Given the description of an element on the screen output the (x, y) to click on. 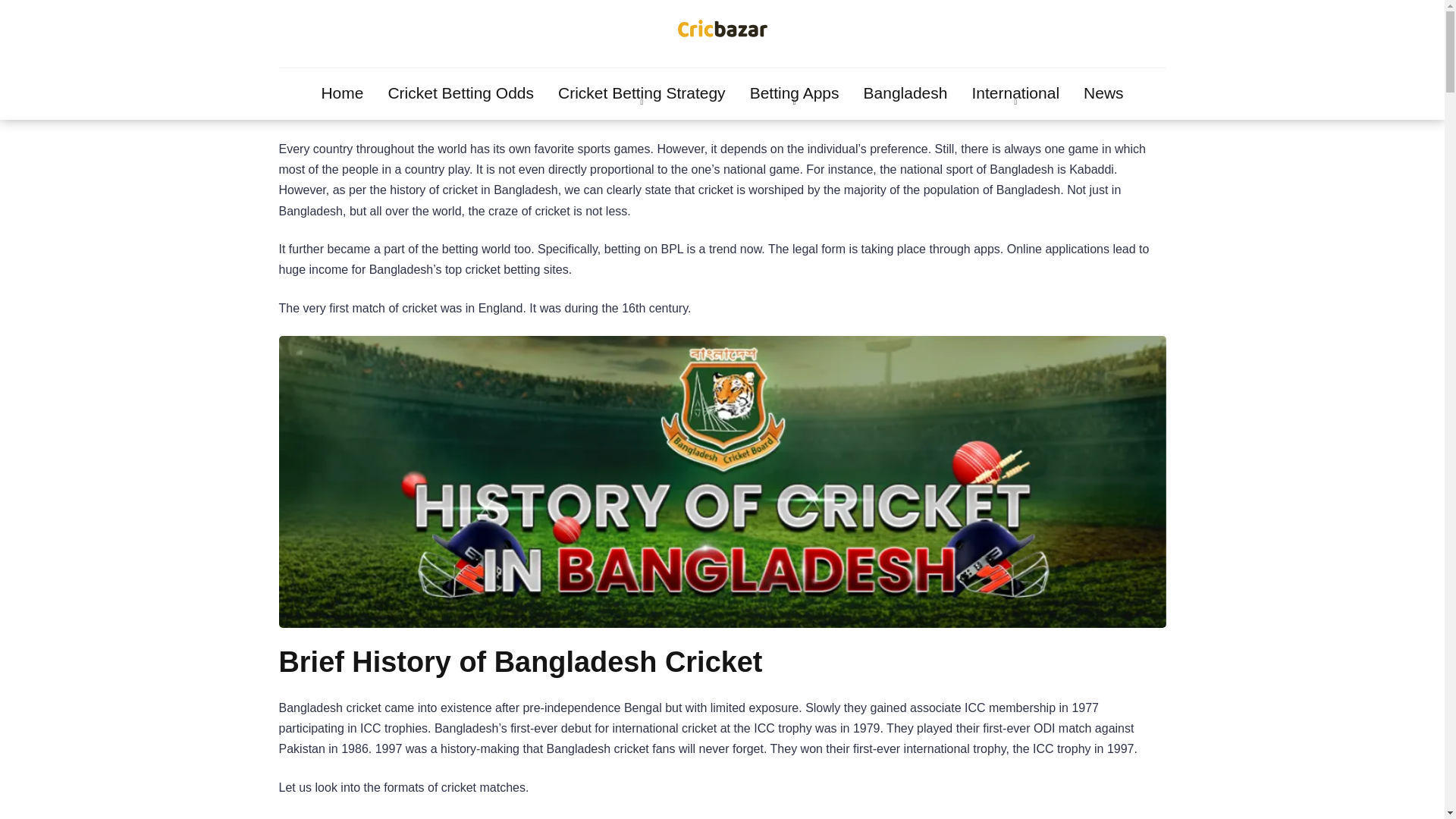
CricBazar (721, 31)
Home (341, 93)
Cricket Betting Strategy (642, 93)
News (1103, 93)
International (1015, 93)
Cricket Betting Odds (460, 93)
Bangladesh (905, 93)
Betting Apps (794, 93)
